Given the description of an element on the screen output the (x, y) to click on. 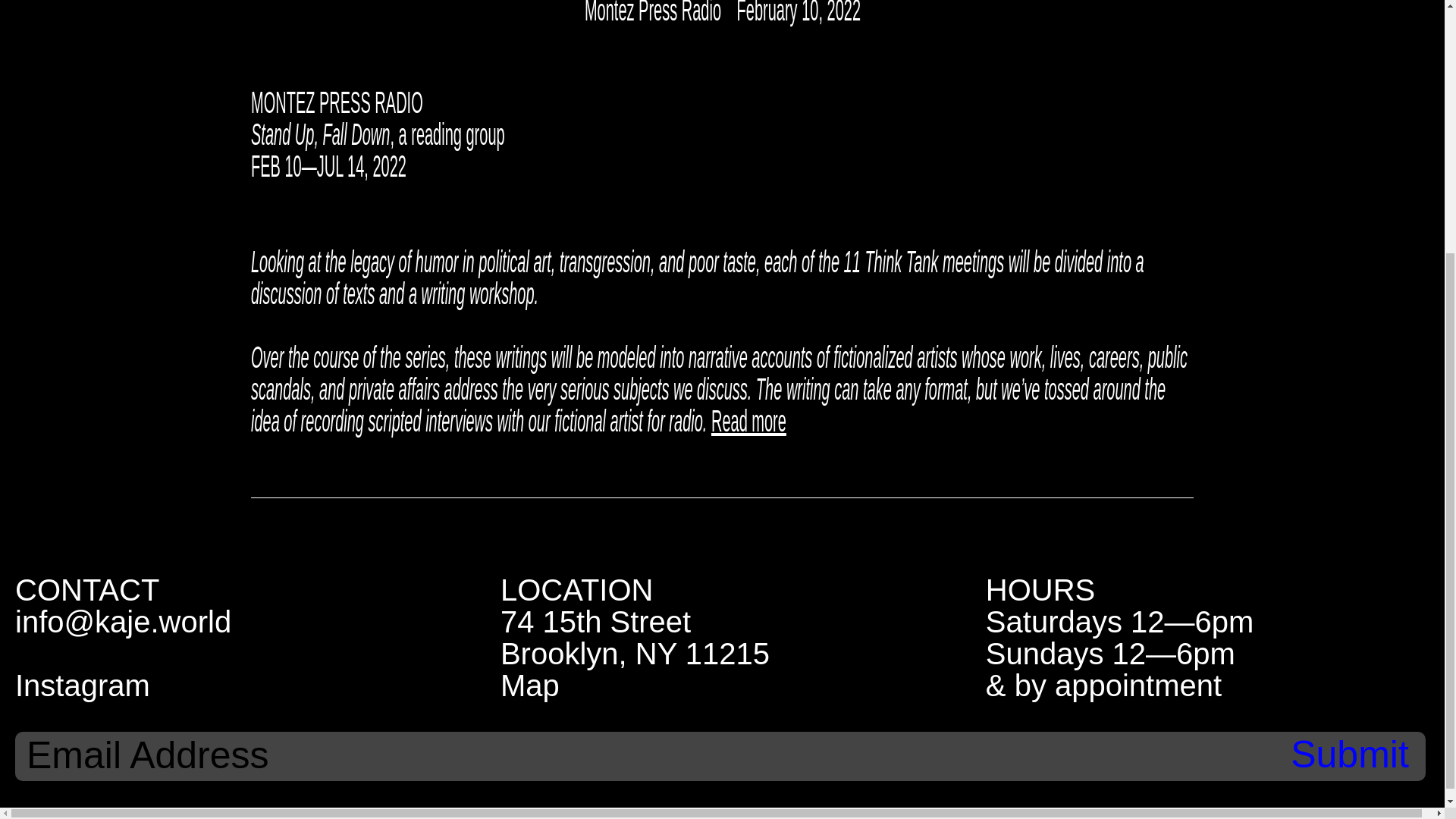
Read more (785, 420)
Map (727, 685)
Submit (1349, 754)
Submit (1349, 754)
Instagram (242, 685)
